Given the description of an element on the screen output the (x, y) to click on. 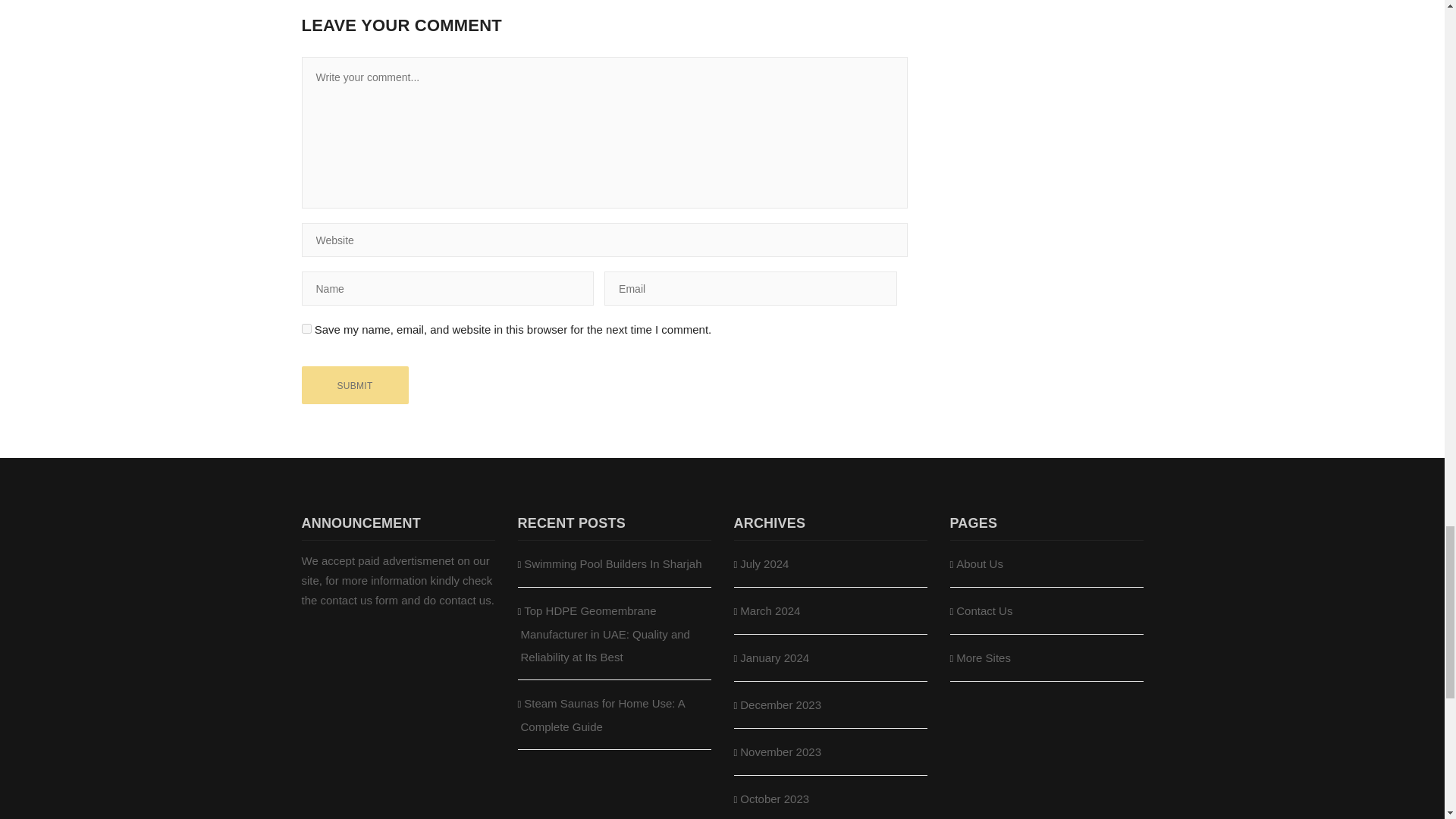
Submit (355, 385)
yes (306, 328)
